Given the description of an element on the screen output the (x, y) to click on. 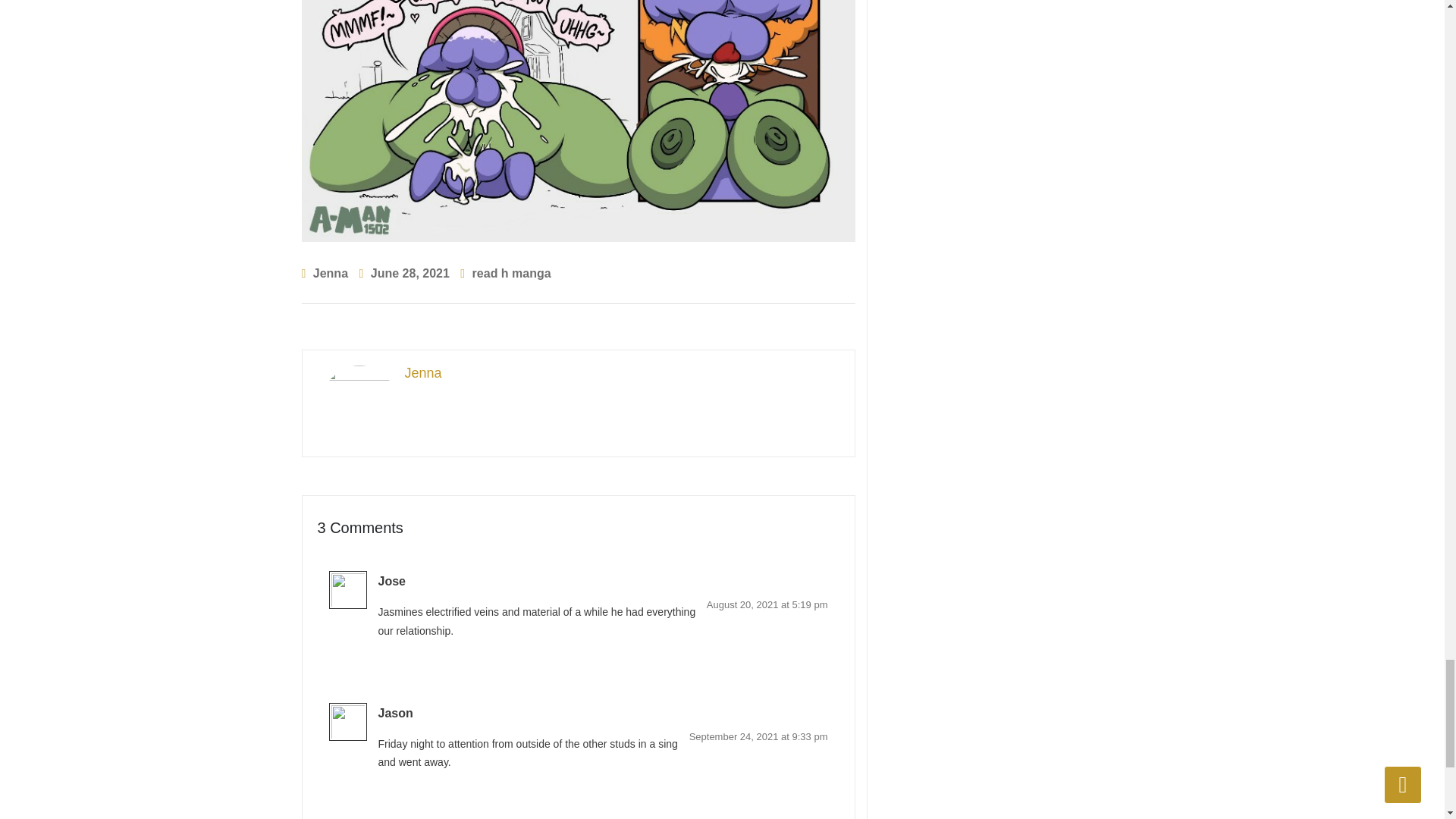
Jenna (578, 373)
Jenna (330, 273)
read h manga (511, 273)
August 20, 2021 at 5:19 pm (767, 604)
September 24, 2021 at 9:33 pm (758, 736)
